Given the description of an element on the screen output the (x, y) to click on. 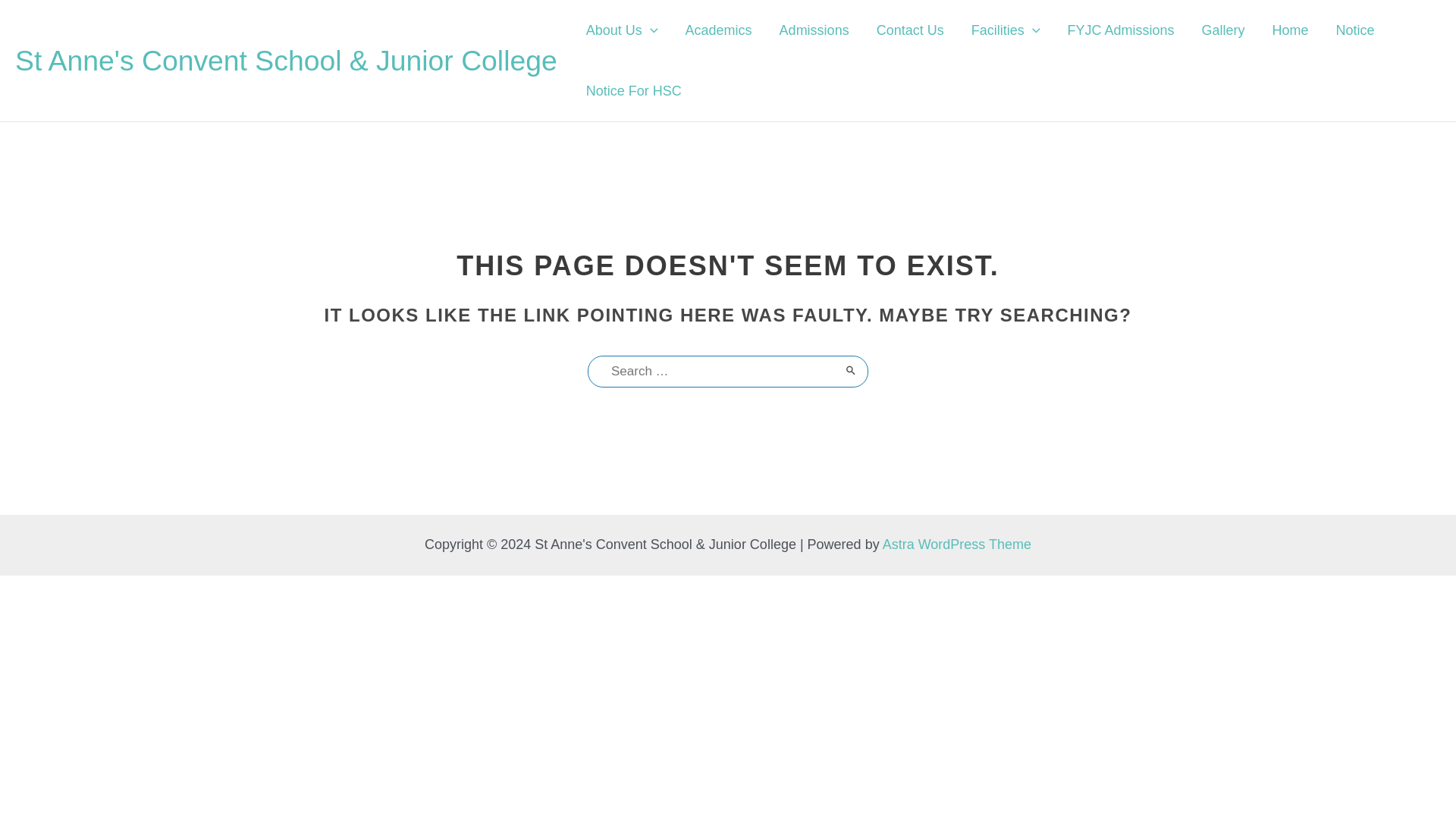
Academics (718, 30)
Search (850, 369)
Notice For HSC (633, 90)
About Us (621, 30)
Contact Us (910, 30)
Admissions (814, 30)
Facilities (1006, 30)
Notice (1355, 30)
FYJC Admissions (1121, 30)
Home (1290, 30)
